Given the description of an element on the screen output the (x, y) to click on. 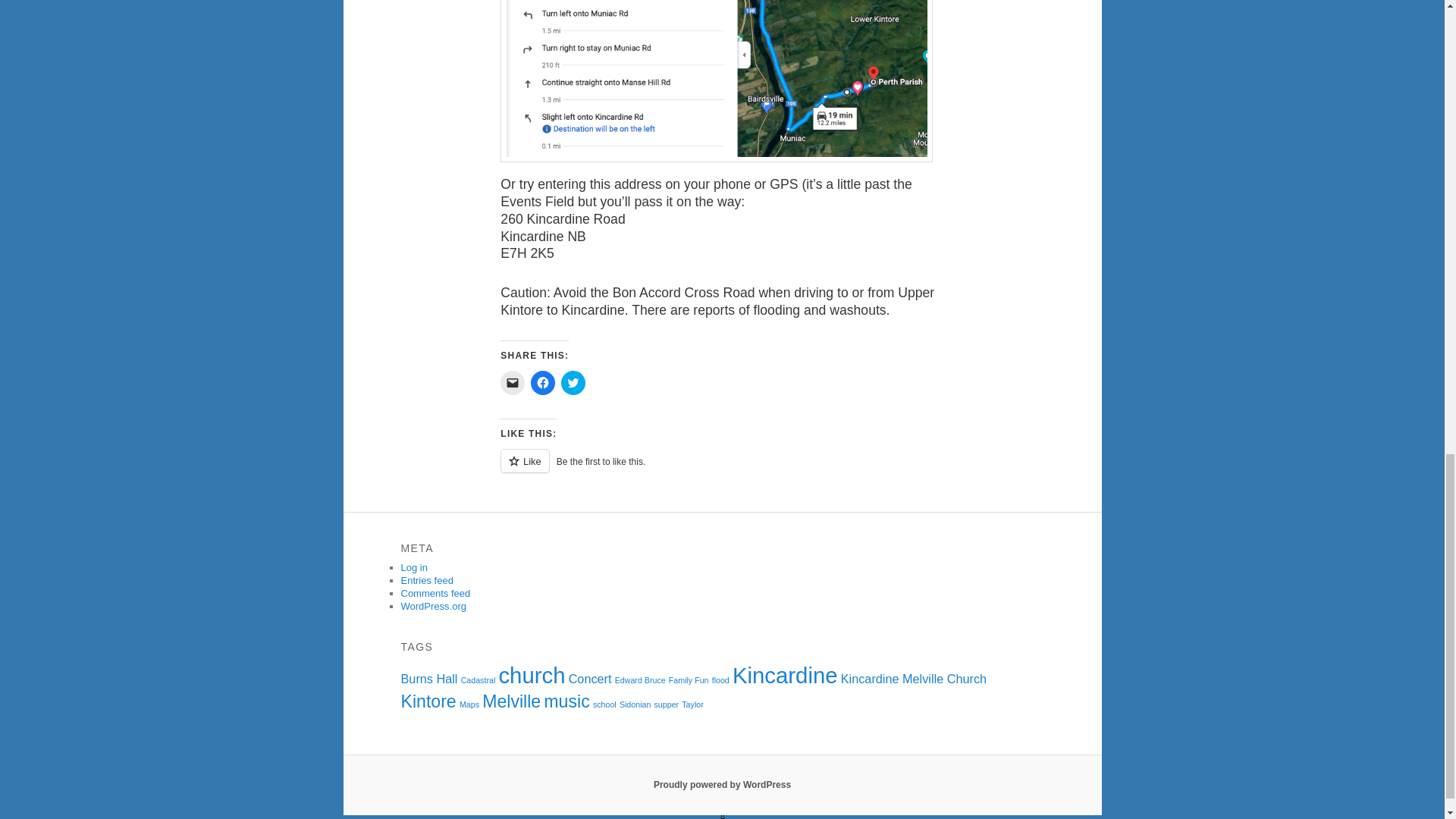
Semantic Personal Publishing Platform (721, 784)
Click to email a link to a friend (512, 382)
Click to share on Facebook (542, 382)
Click to share on Twitter (572, 382)
Like or Reblog (721, 469)
